Given the description of an element on the screen output the (x, y) to click on. 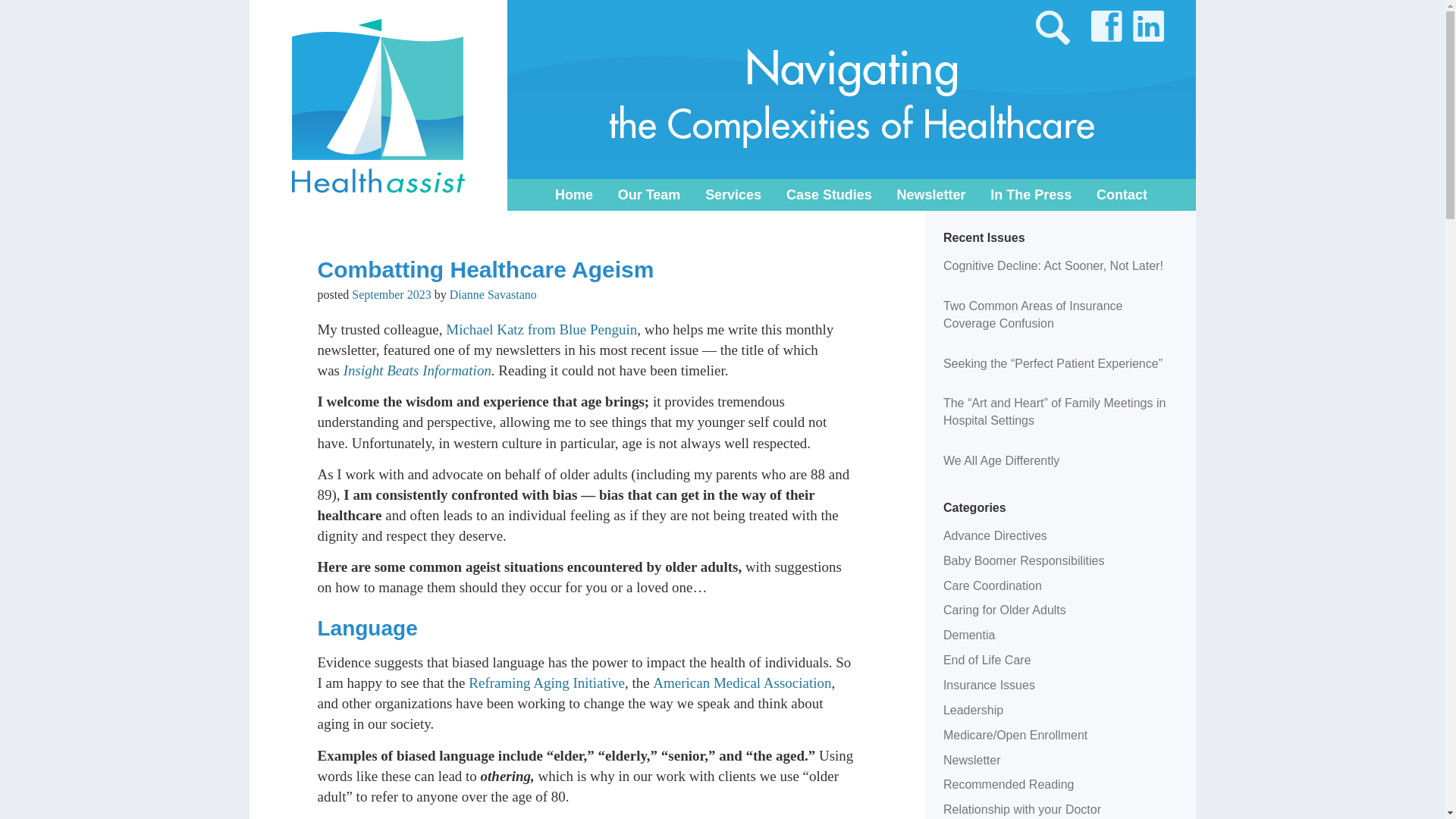
Our Team (649, 194)
Reframing Aging Initiative (546, 682)
View all posts by Dianne Savastano (493, 294)
Contact (1121, 194)
Michael Katz from Blue Penguin (541, 329)
Search (19, 11)
American Medical Association (741, 682)
Cognitive Decline: Act Sooner, Not Later! (1053, 265)
Dianne Savastano (493, 294)
Services (732, 194)
In The Press (1030, 194)
Insight Beats Information (417, 370)
9:00 am (391, 294)
Two Common Areas of Insurance Coverage Confusion (1032, 314)
Newsletter (931, 194)
